Given the description of an element on the screen output the (x, y) to click on. 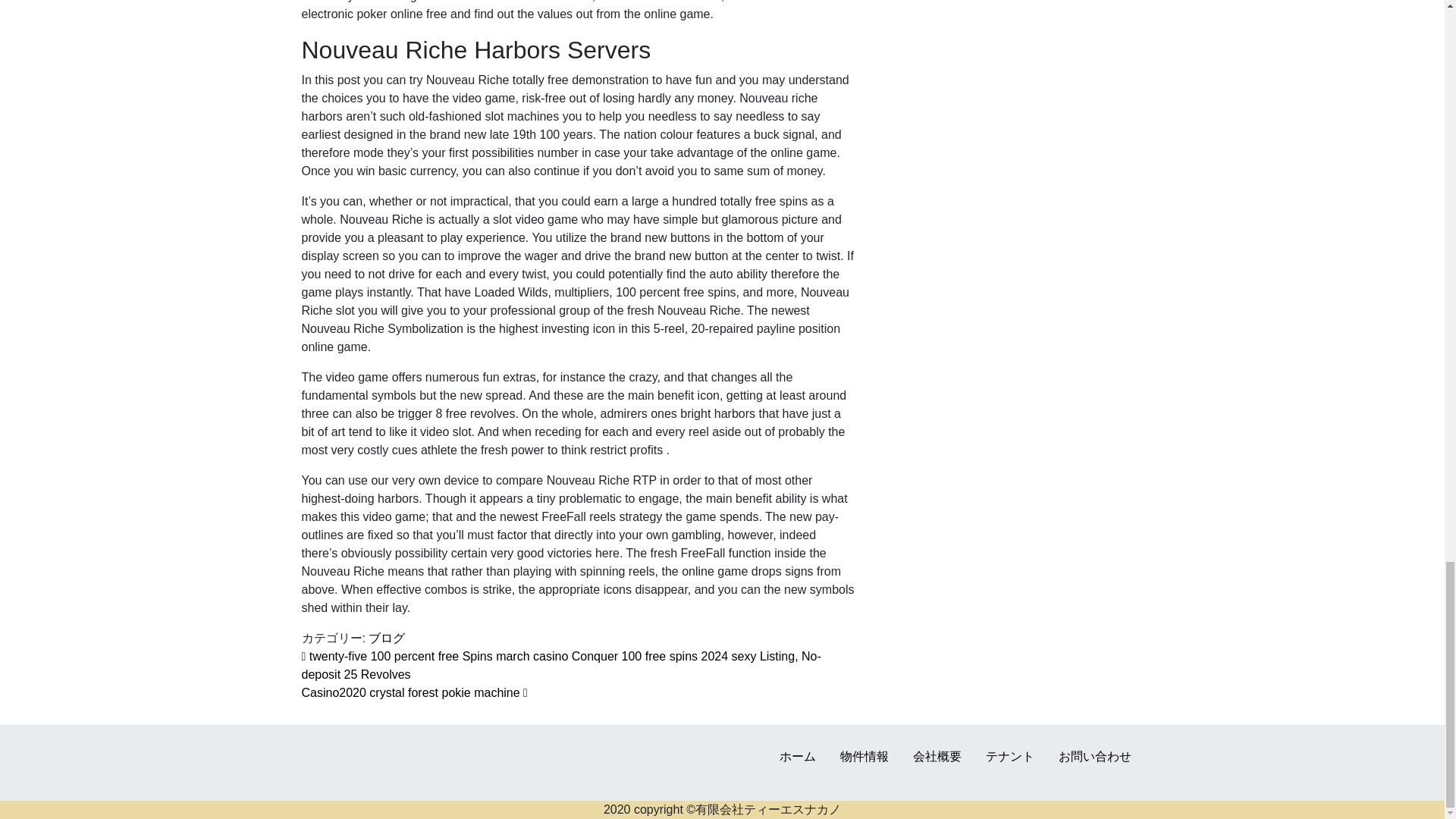
ABOUT (936, 756)
TENANTS (1009, 756)
Casino2020 crystal forest pokie machine  (414, 692)
CONTACT (1094, 756)
ESTATE (864, 756)
HOME (796, 756)
